Given the description of an element on the screen output the (x, y) to click on. 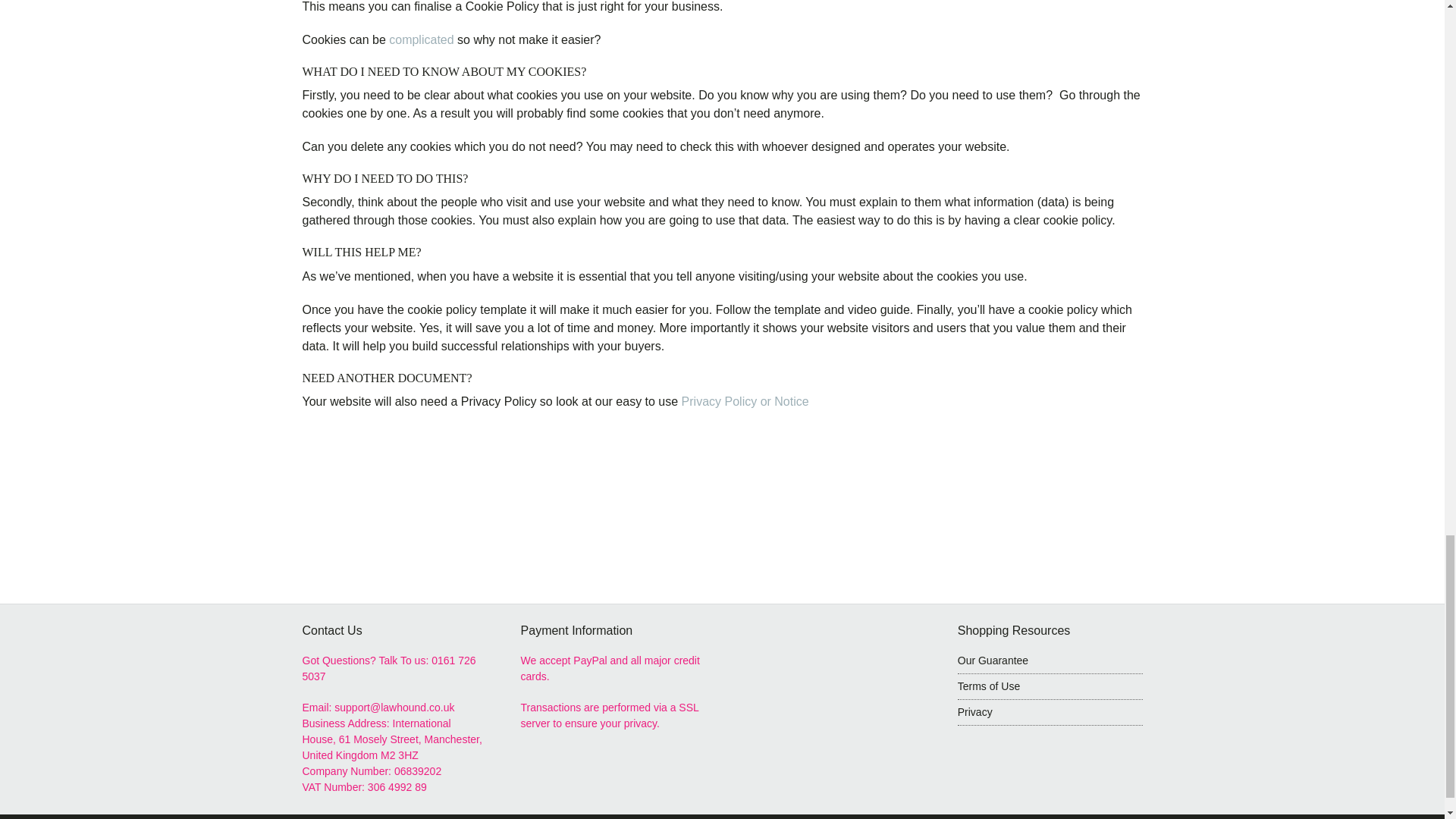
Privacy Policy or Notice   (748, 400)
Privacy (1050, 712)
complicated (419, 39)
Our Guarantee (992, 660)
Terms of Use (1050, 687)
